Given the description of an element on the screen output the (x, y) to click on. 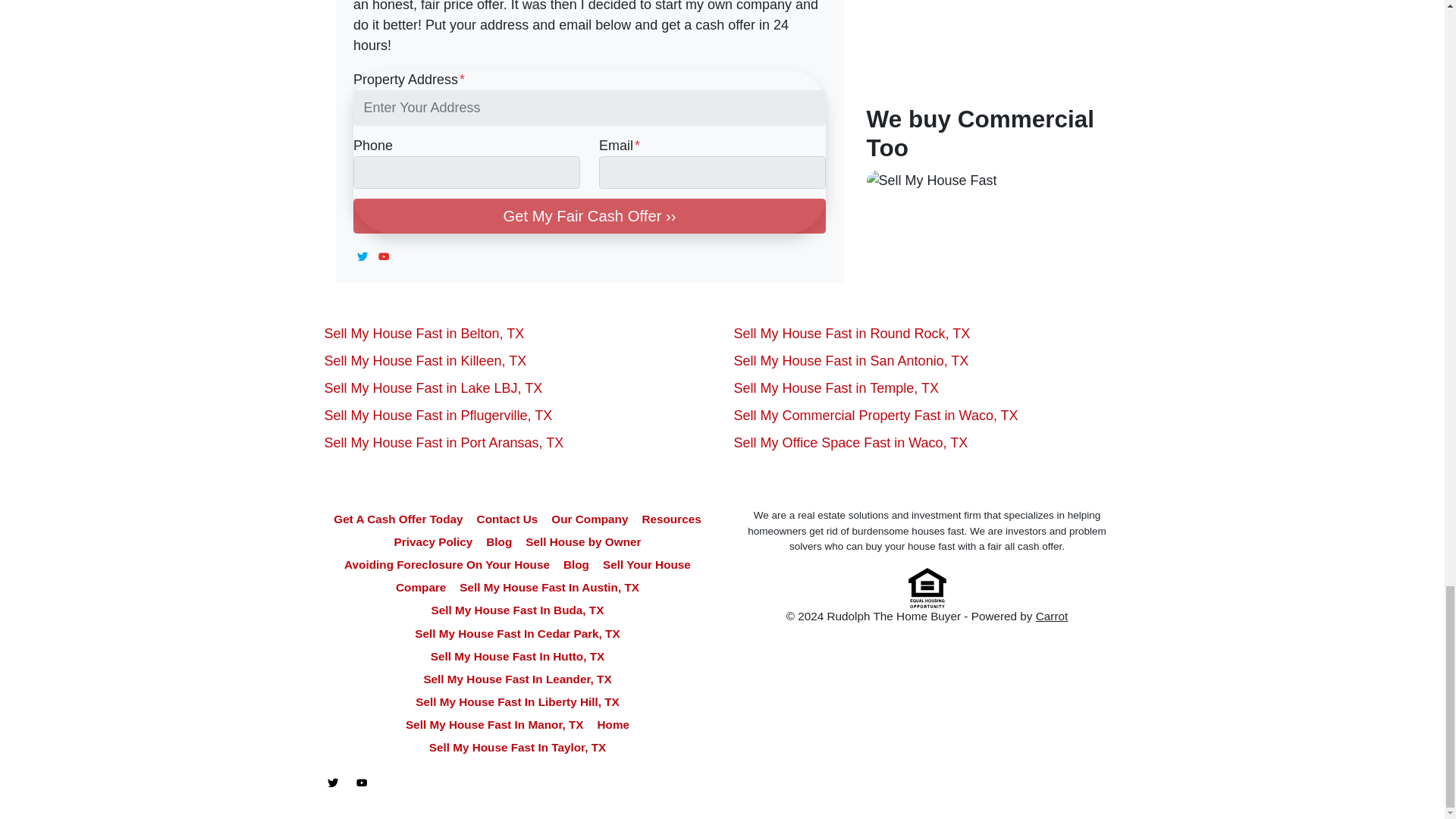
Sell My House Fast in Lake LBJ, TX (433, 387)
Twitter (362, 256)
Sell My House Fast in Killeen, TX (425, 360)
YouTube (383, 256)
Sell My House Fast in Belton, TX (424, 333)
Sell My House Fast in Pflugerville, TX (438, 415)
Sell My House Fast in Round Rock, TX (852, 333)
Sell My House Fast in Port Aransas, TX (444, 442)
